Given the description of an element on the screen output the (x, y) to click on. 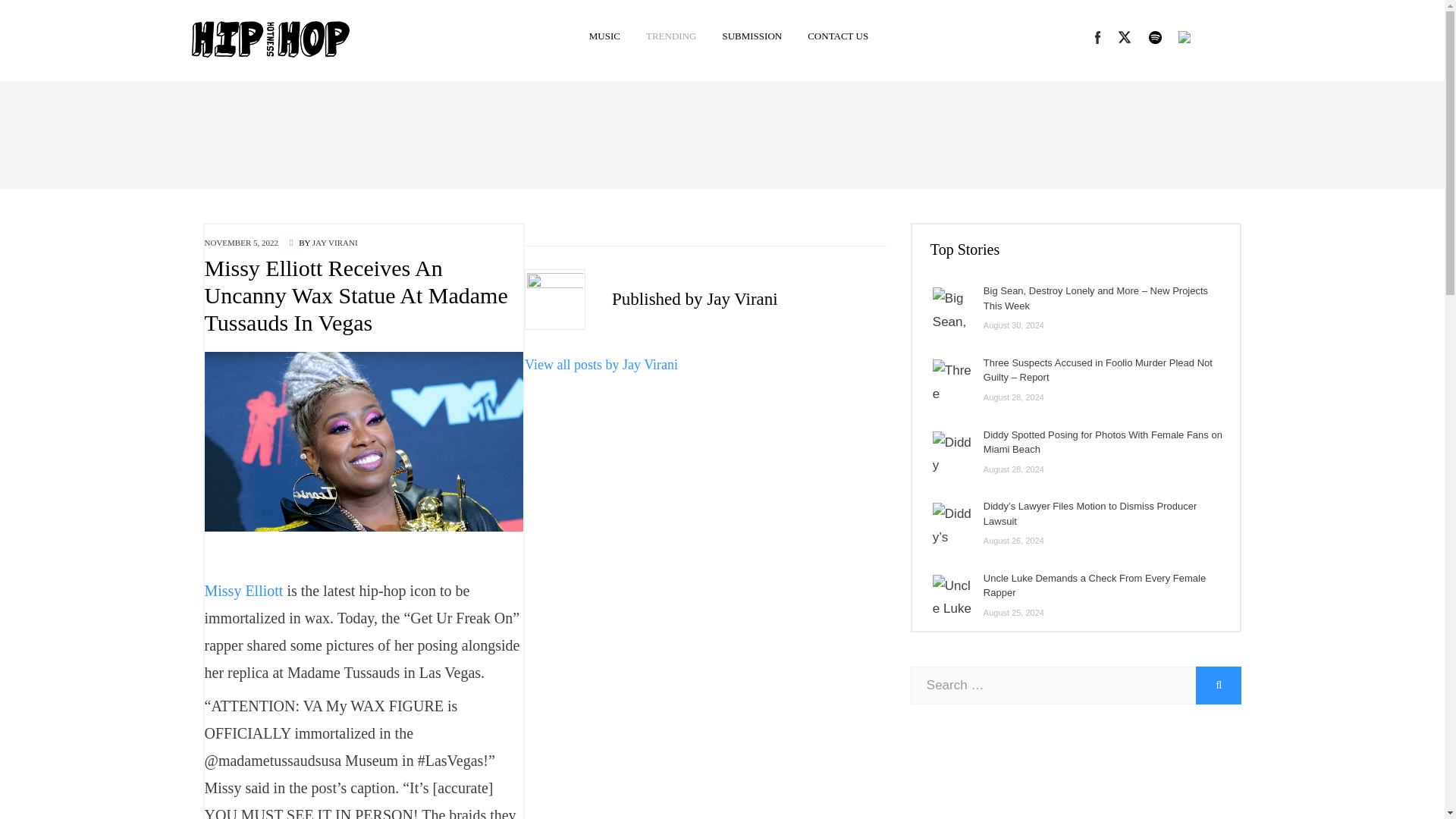
Search for: (1053, 685)
TRENDING (671, 36)
SEARCH (1218, 685)
NOVEMBER 5, 2022 (241, 242)
Uncle Luke Demands a Check From Every Female Rapper (1094, 585)
CONTACT US (830, 36)
Missy Elliott (244, 590)
JAY VIRANI (335, 242)
